Given the description of an element on the screen output the (x, y) to click on. 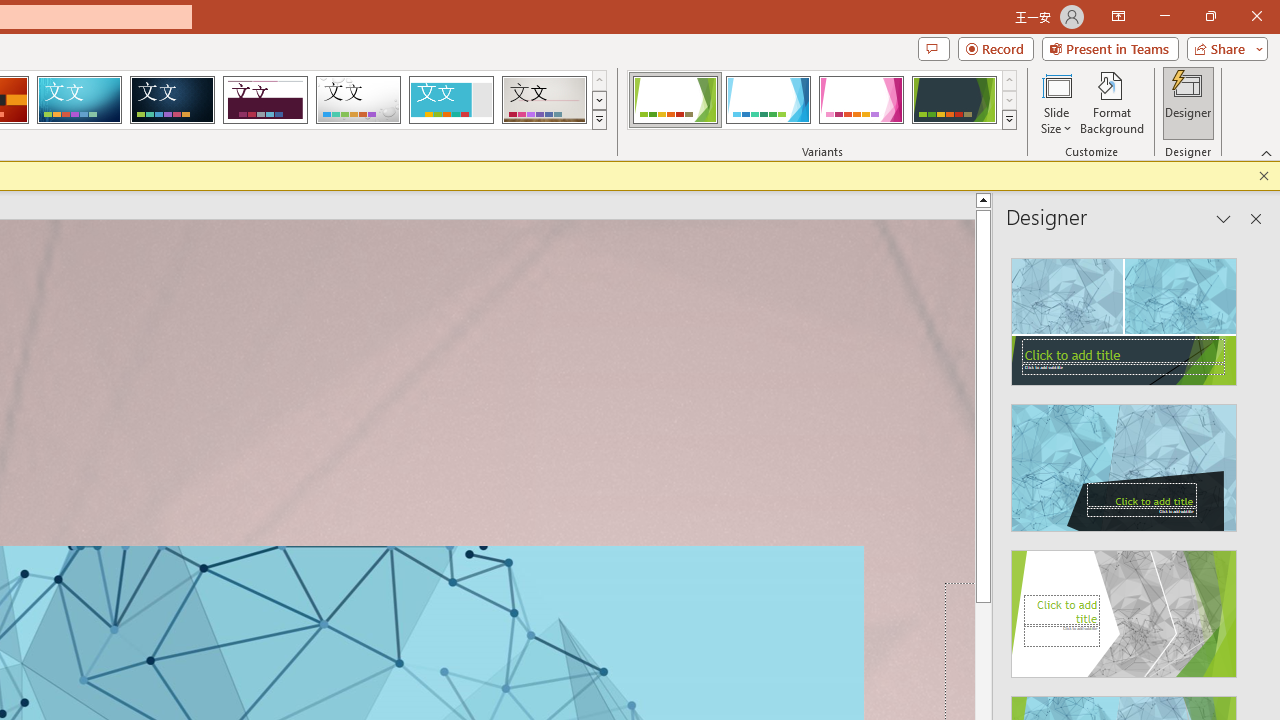
Facet Variant 4 (953, 100)
Variants (1009, 120)
Circuit (79, 100)
Frame (450, 100)
Slide Size (1056, 102)
Damask (171, 100)
